Given the description of an element on the screen output the (x, y) to click on. 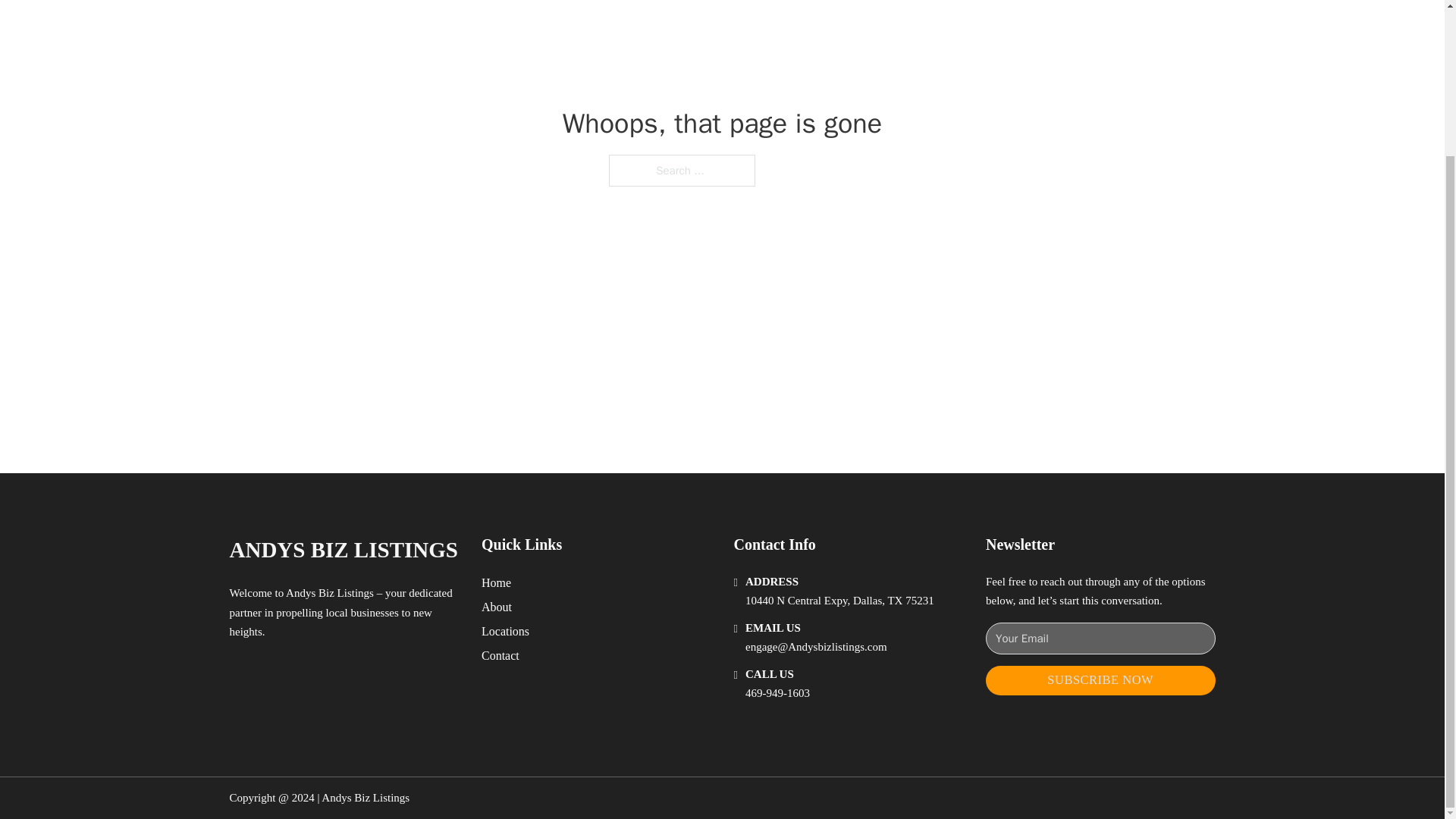
Locations (505, 630)
469-949-1603 (777, 693)
ANDYS BIZ LISTINGS (342, 549)
About (496, 607)
Contact (500, 655)
Home (496, 582)
SUBSCRIBE NOW (1100, 680)
